Given the description of an element on the screen output the (x, y) to click on. 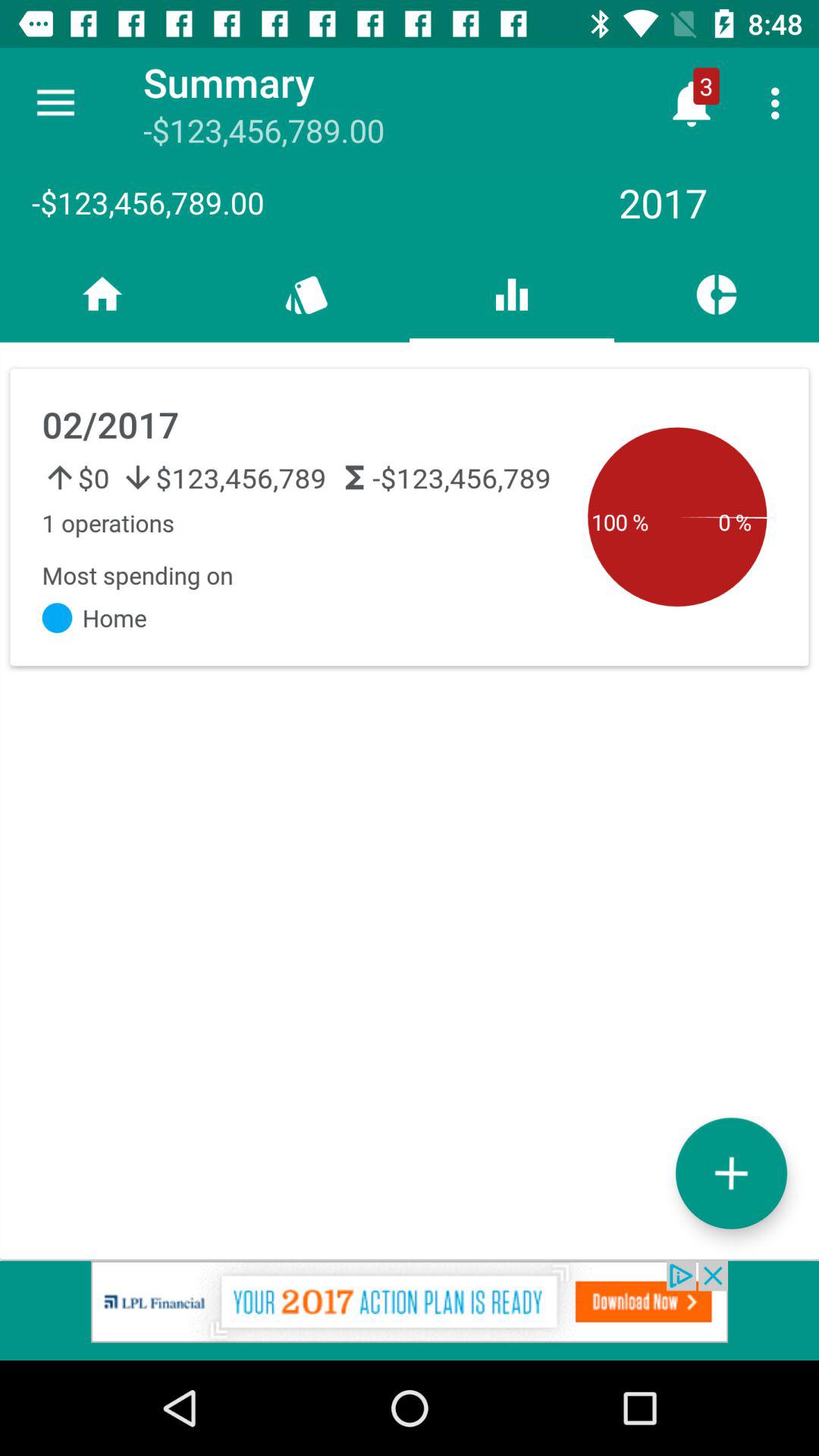
add button (731, 1173)
